Given the description of an element on the screen output the (x, y) to click on. 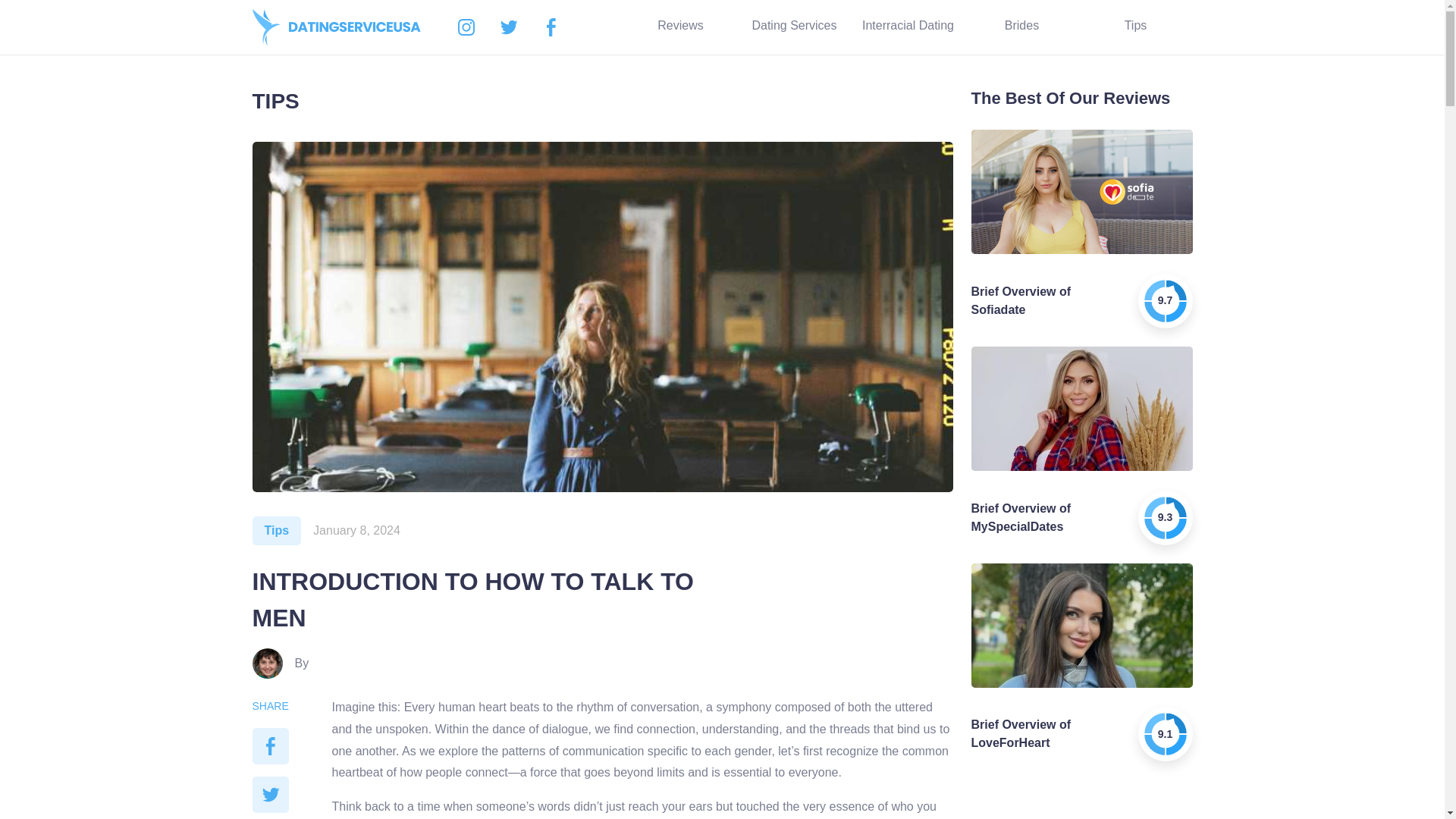
Reviews (679, 27)
Dating Services (793, 27)
Tips (1135, 27)
We are on Twitter (508, 27)
Share on Facebook (269, 746)
Share on Twitter (269, 794)
Brides (1020, 27)
Interracial Dating (906, 27)
We are on Facebook (550, 27)
We are on Instagram (466, 27)
